Given the description of an element on the screen output the (x, y) to click on. 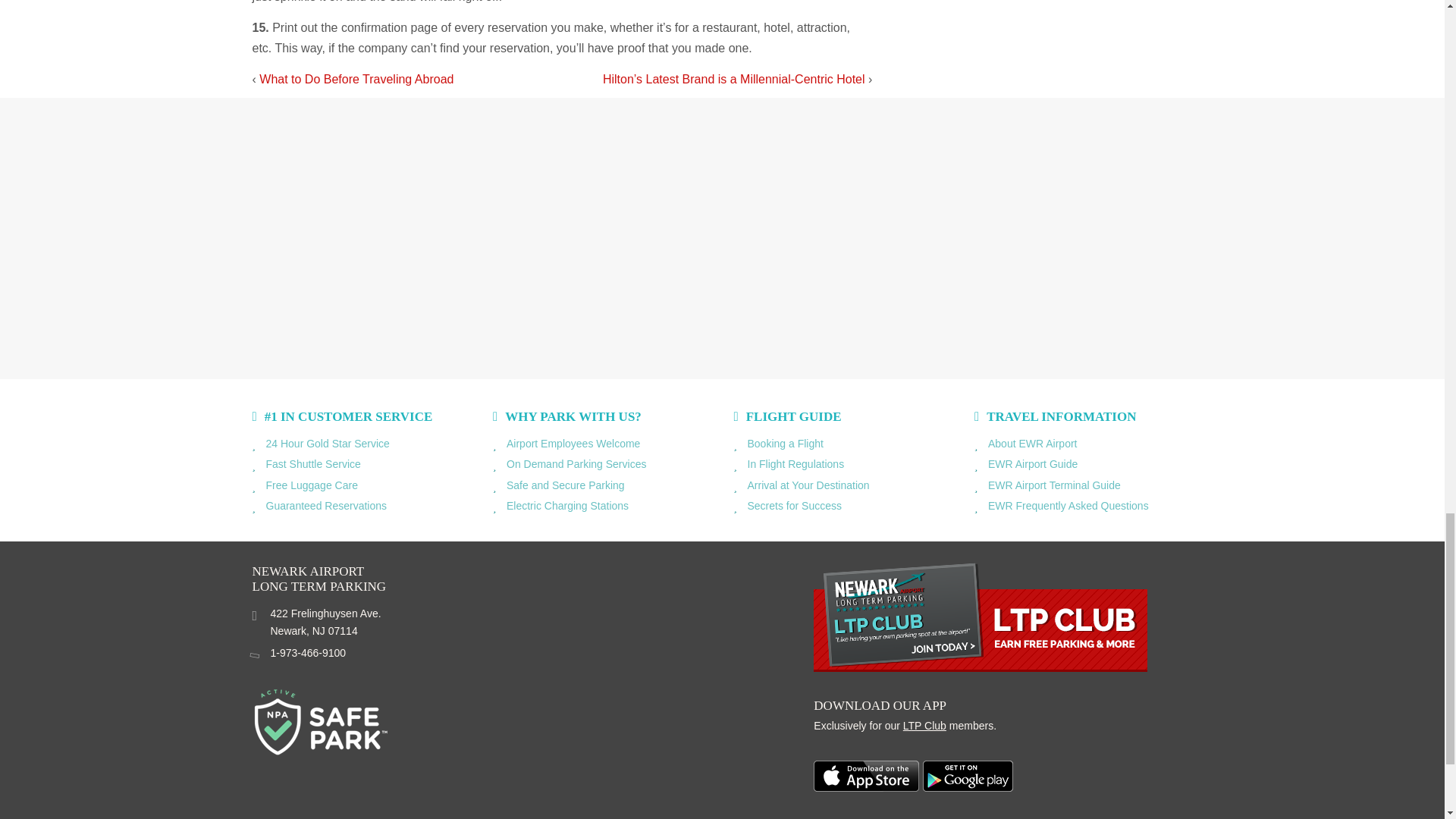
ltp-club-bnr (980, 615)
safepark-logo (319, 721)
What to Do Before Traveling Abroad (355, 78)
